Given the description of an element on the screen output the (x, y) to click on. 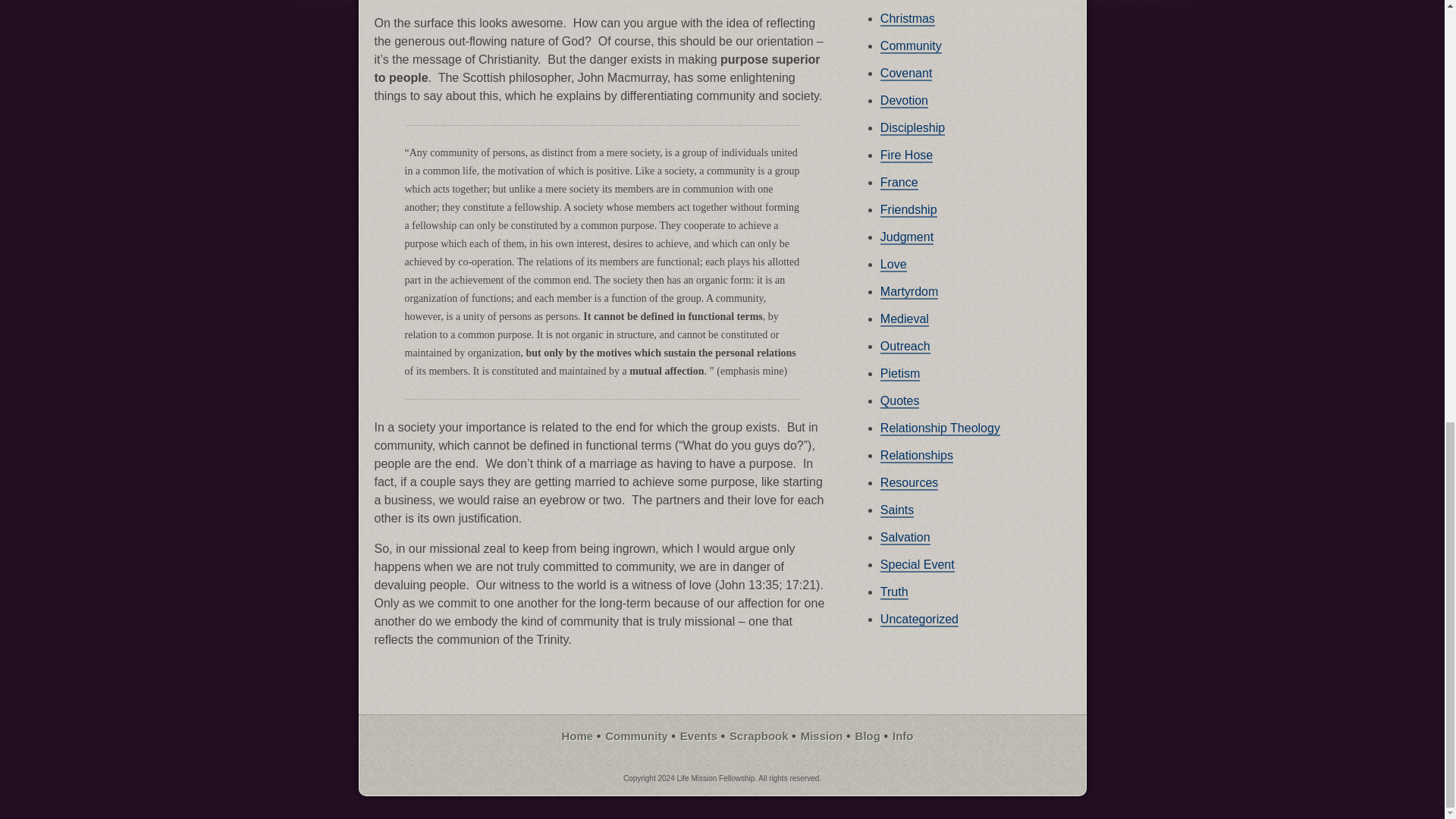
Christmas (907, 19)
Community (911, 46)
Covenant (906, 73)
Discipleship (912, 128)
France (899, 183)
Love (893, 264)
Fire Hose (906, 155)
Friendship (908, 210)
Martyrdom (908, 292)
Devotion (904, 101)
Judgment (906, 237)
